Given the description of an element on the screen output the (x, y) to click on. 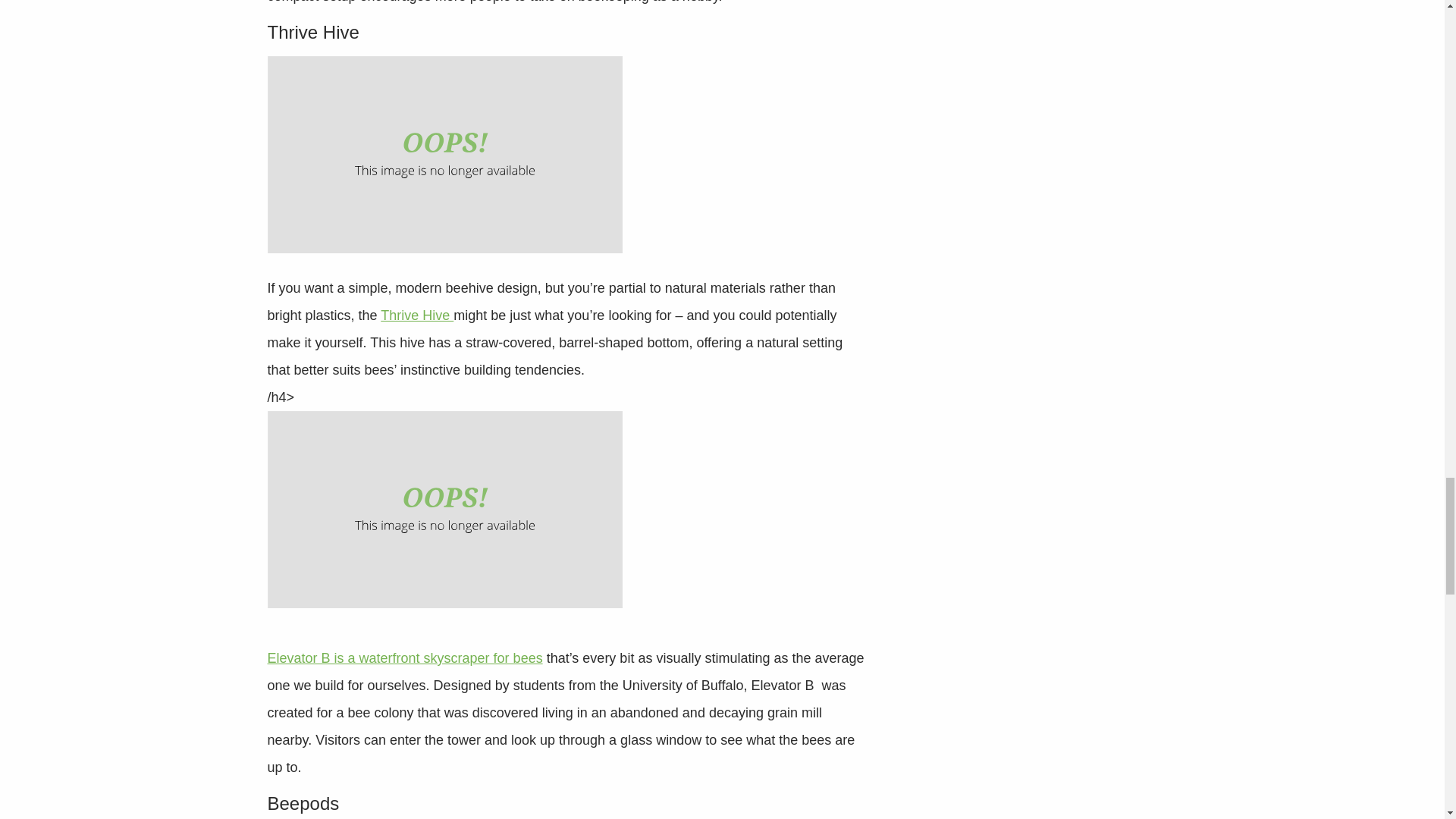
Elevator B is a waterfront skyscraper for bees (403, 671)
Beehive Designs Elevator B (443, 509)
Thrive Hive (416, 314)
Beehive Design Thrive Hive (443, 154)
